Given the description of an element on the screen output the (x, y) to click on. 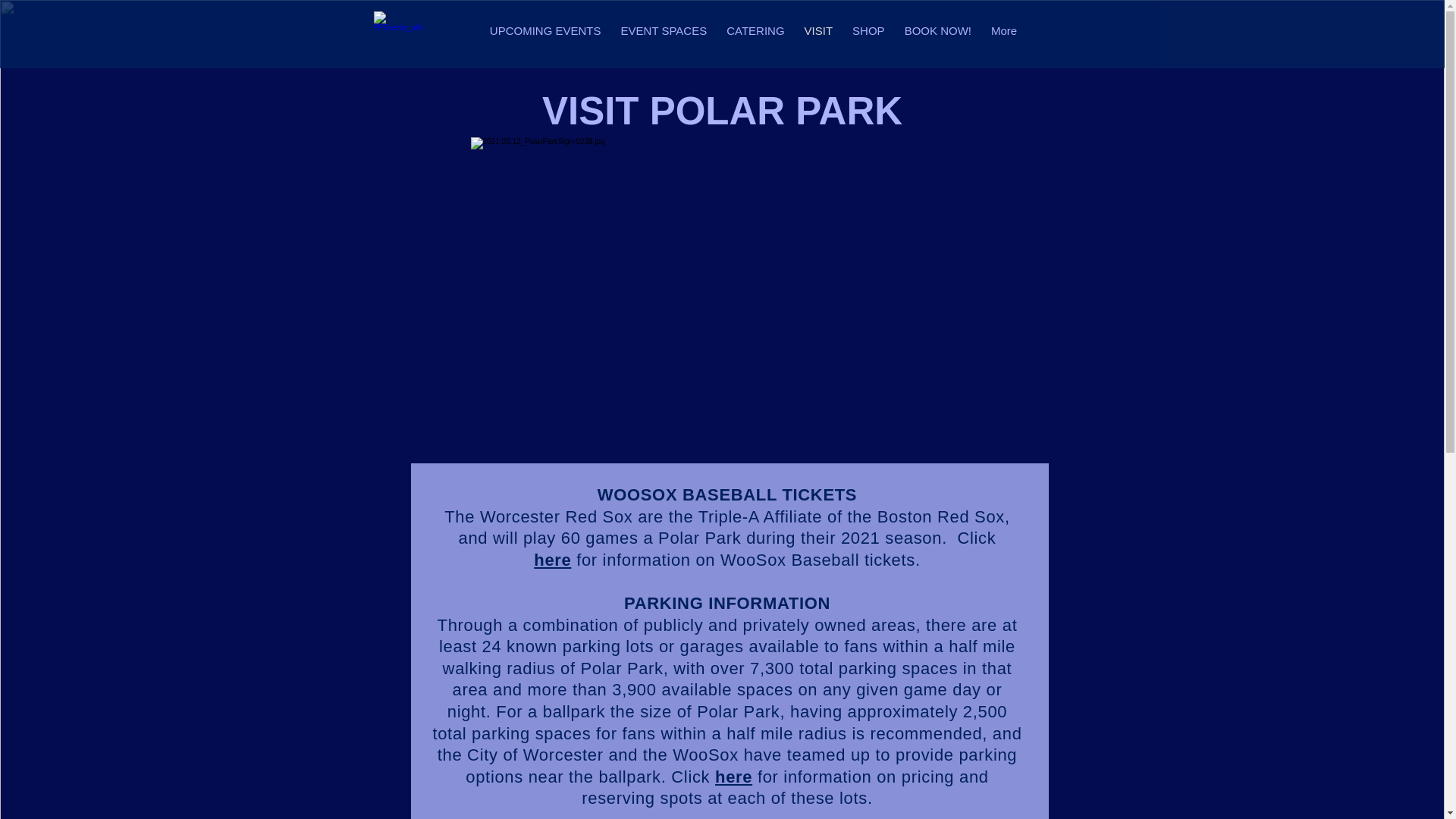
UPCOMING EVENTS (545, 33)
here (733, 776)
EVENT SPACES (664, 33)
BOOK NOW! (938, 33)
SHOP (869, 33)
CATERING (754, 33)
VISIT (818, 33)
here (552, 559)
